Given the description of an element on the screen output the (x, y) to click on. 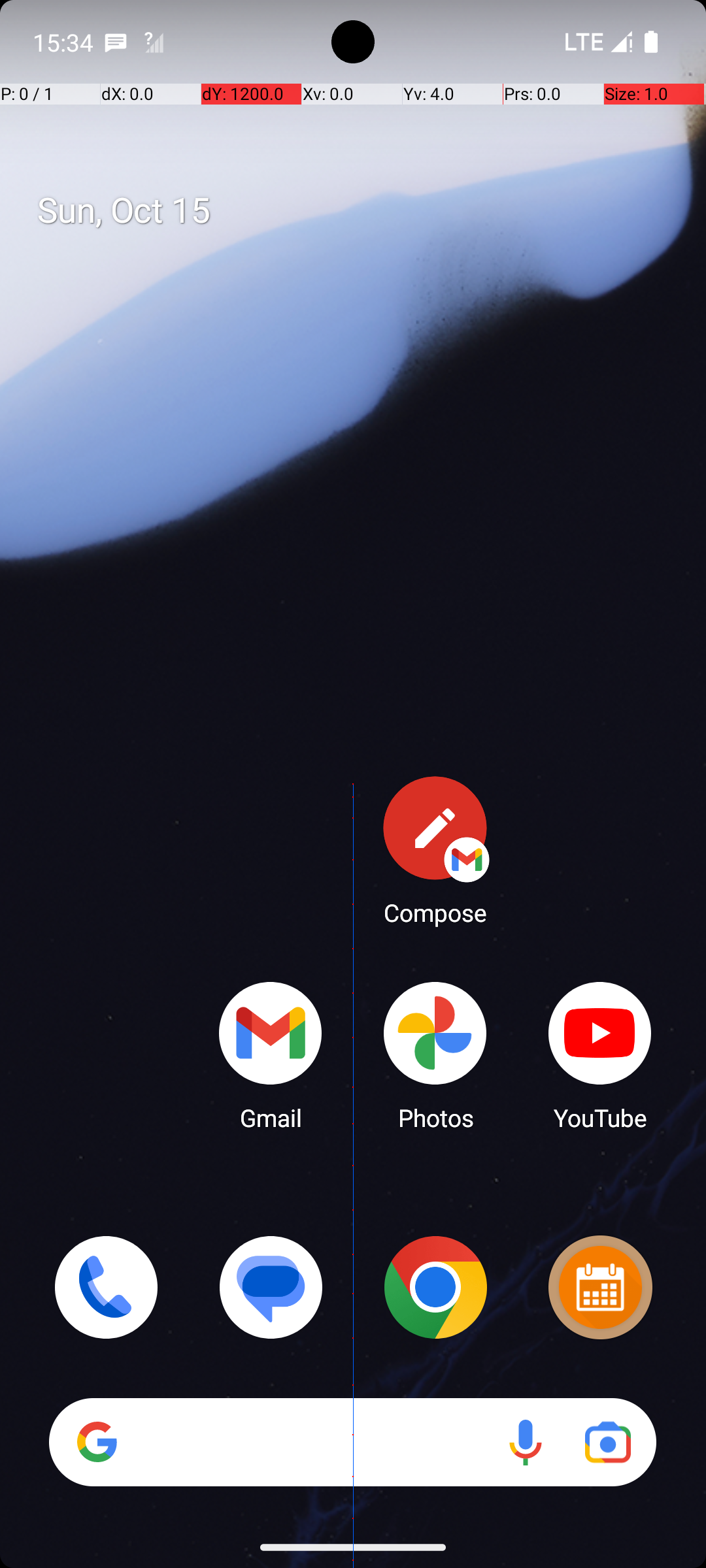
Compose Element type: android.widget.TextView (435, 849)
Android System notification: Sign in to network Element type: android.widget.ImageView (153, 41)
